Given the description of an element on the screen output the (x, y) to click on. 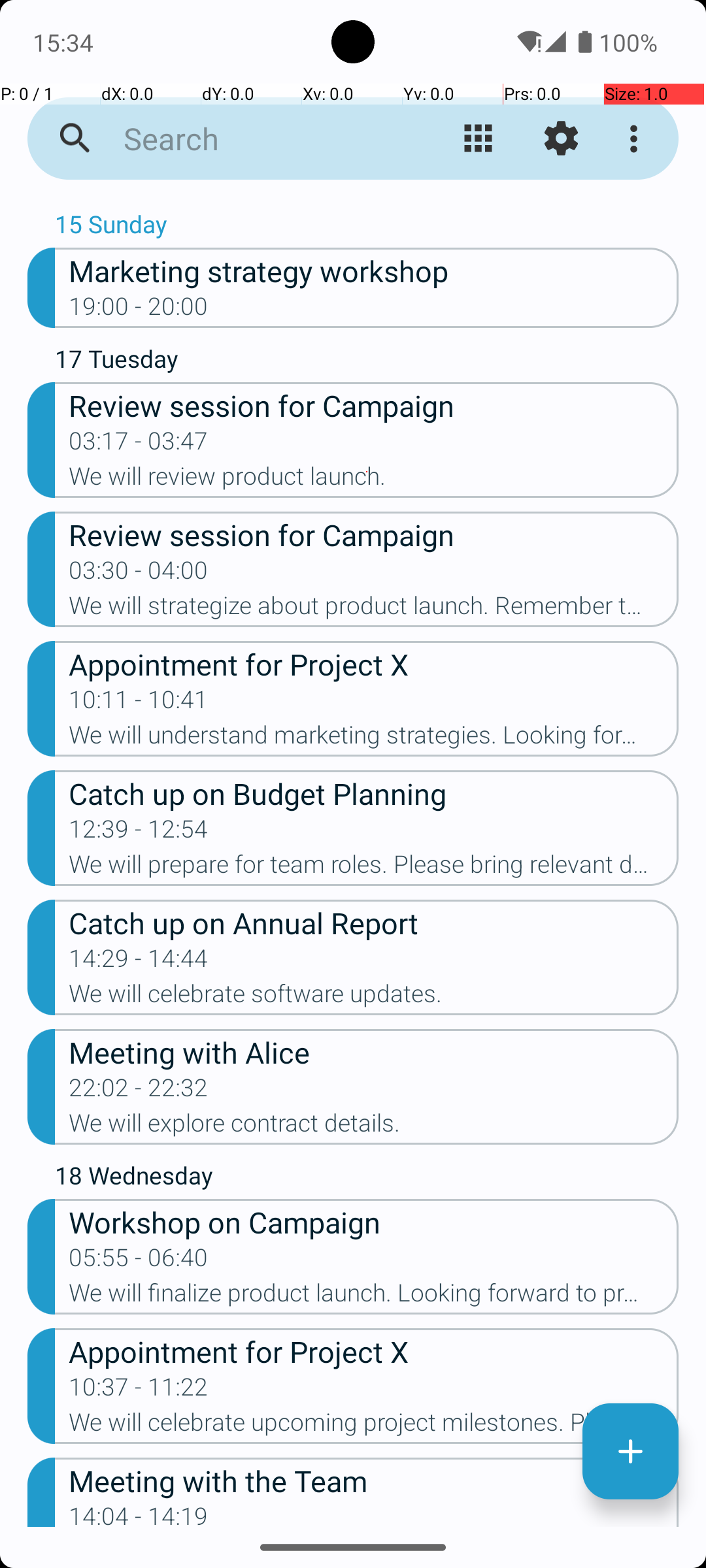
Marketing strategy workshop Element type: android.widget.TextView (373, 269)
19:00 - 20:00 Element type: android.widget.TextView (137, 309)
03:17 - 03:47 Element type: android.widget.TextView (137, 444)
We will review product launch. Element type: android.widget.TextView (373, 479)
03:30 - 04:00 Element type: android.widget.TextView (137, 573)
We will strategize about product launch. Remember to confirm attendance. Element type: android.widget.TextView (373, 609)
10:11 - 10:41 Element type: android.widget.TextView (137, 703)
We will understand marketing strategies. Looking forward to productive discussions. Element type: android.widget.TextView (373, 738)
12:39 - 12:54 Element type: android.widget.TextView (137, 832)
We will prepare for team roles. Please bring relevant documents. Element type: android.widget.TextView (373, 867)
14:29 - 14:44 Element type: android.widget.TextView (137, 962)
We will celebrate software updates. Element type: android.widget.TextView (373, 997)
22:02 - 22:32 Element type: android.widget.TextView (137, 1091)
We will explore contract details. Element type: android.widget.TextView (373, 1126)
05:55 - 06:40 Element type: android.widget.TextView (137, 1261)
We will finalize product launch. Looking forward to productive discussions. Element type: android.widget.TextView (373, 1296)
10:37 - 11:22 Element type: android.widget.TextView (137, 1390)
We will celebrate upcoming project milestones. Please bring relevant documents. Element type: android.widget.TextView (373, 1425)
14:04 - 14:19 Element type: android.widget.TextView (137, 1514)
